Given the description of an element on the screen output the (x, y) to click on. 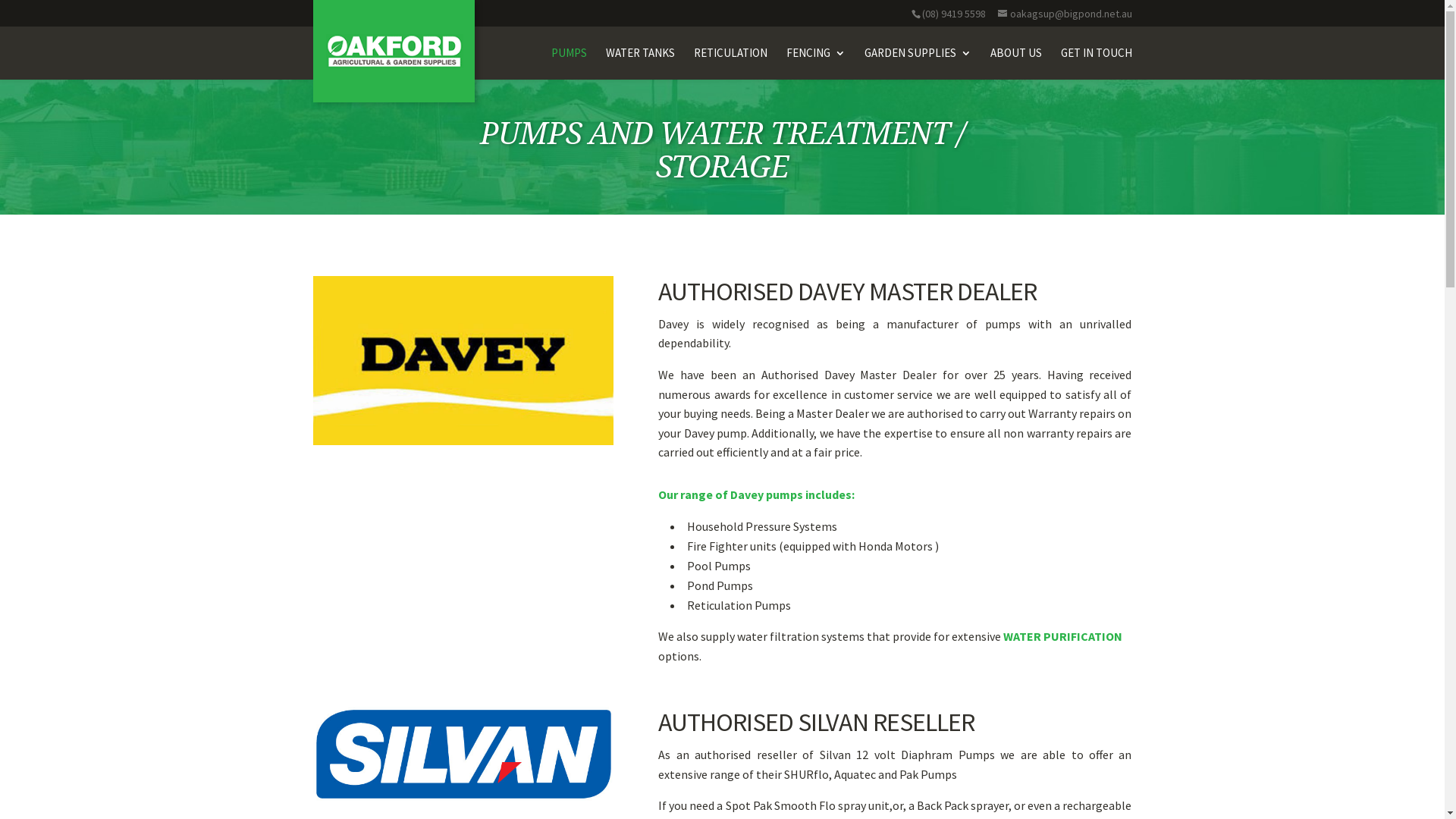
FENCING Element type: text (814, 63)
RETICULATION Element type: text (729, 63)
PUMPS Element type: text (568, 63)
(08) 9419 5598 Element type: text (953, 12)
WATER TANKS Element type: text (639, 63)
ABOUT US Element type: text (1015, 63)
GET IN TOUCH Element type: text (1095, 63)
GARDEN SUPPLIES Element type: text (917, 63)
oakagsup@bigpond.net.au Element type: text (1064, 12)
